Given the description of an element on the screen output the (x, y) to click on. 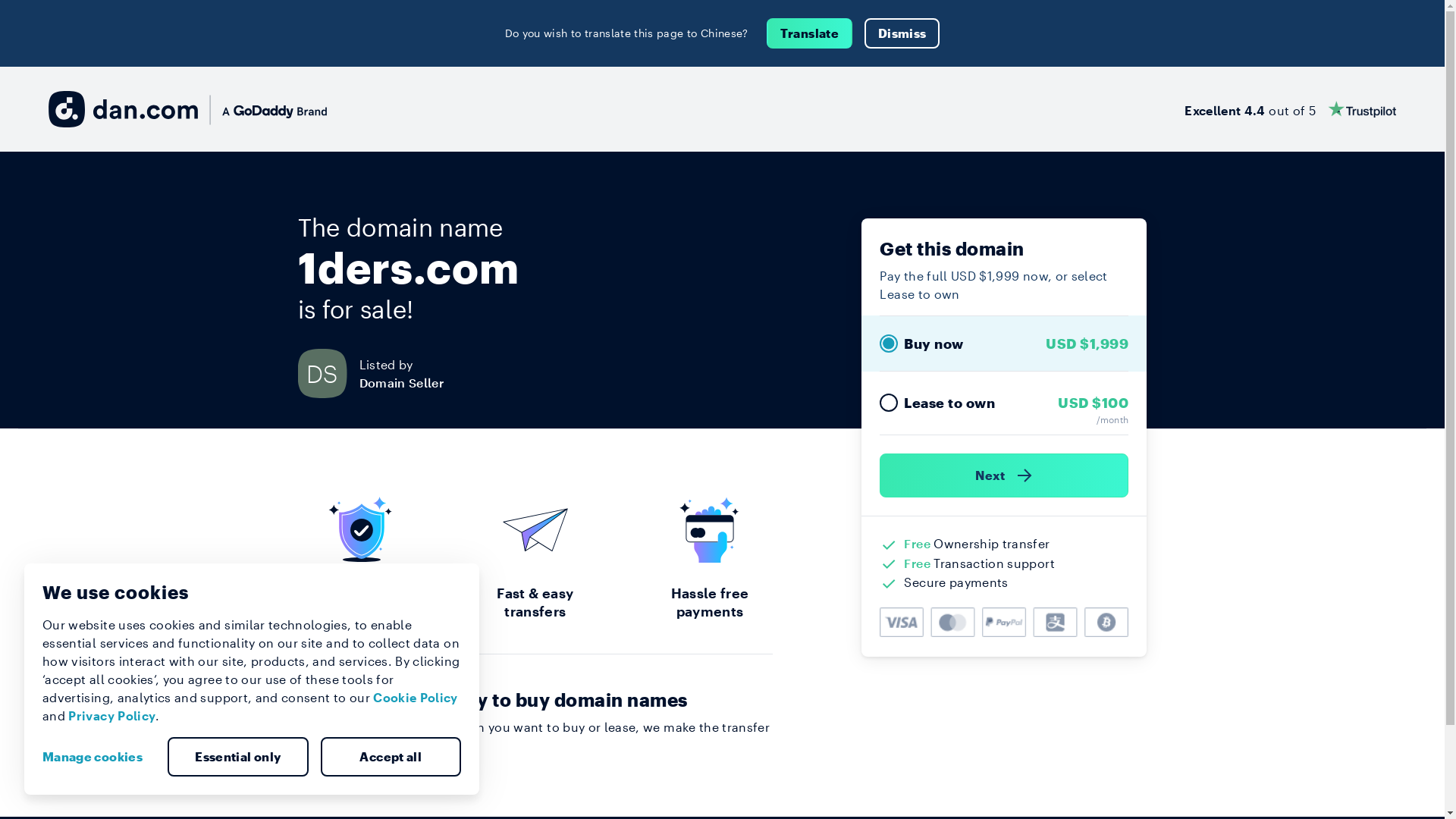
Privacy Policy Element type: text (111, 715)
Accept all Element type: text (390, 756)
Manage cookies Element type: text (98, 756)
Next
) Element type: text (1003, 475)
Essential only Element type: text (237, 756)
Excellent 4.4 out of 5 Element type: text (1290, 109)
Cookie Policy Element type: text (415, 697)
Dismiss Element type: text (901, 33)
Translate Element type: text (809, 33)
